Given the description of an element on the screen output the (x, y) to click on. 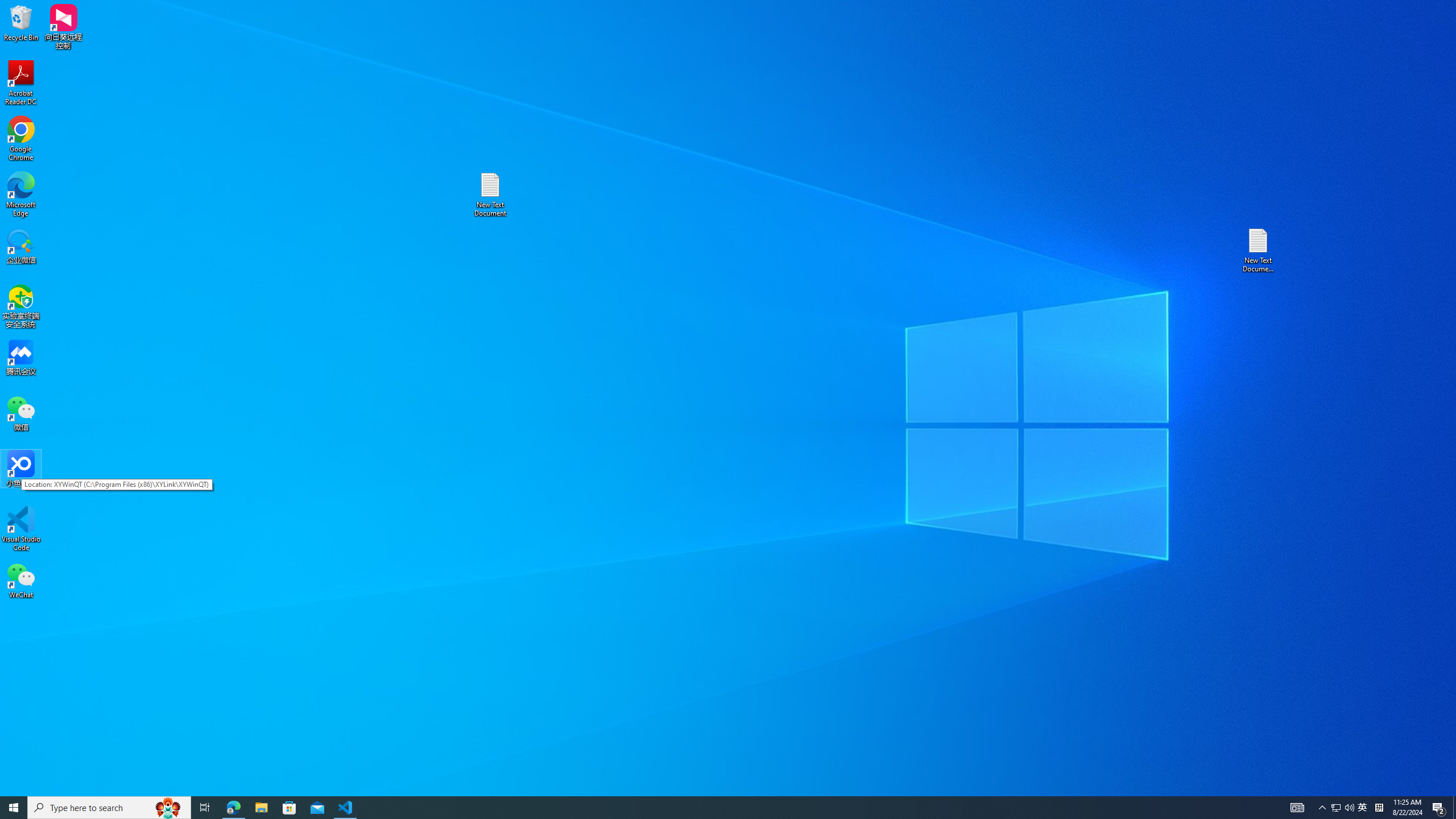
Task View (204, 807)
New Text Document (1362, 807)
Show desktop (489, 194)
New Text Document (2) (1454, 807)
Recycle Bin (1258, 250)
Tray Input Indicator - Chinese (Simplified, China) (21, 22)
File Explorer (1378, 807)
Microsoft Edge (261, 807)
Start (21, 194)
Microsoft Edge - 1 running window (13, 807)
Acrobat Reader DC (233, 807)
Microsoft Store (21, 82)
